Given the description of an element on the screen output the (x, y) to click on. 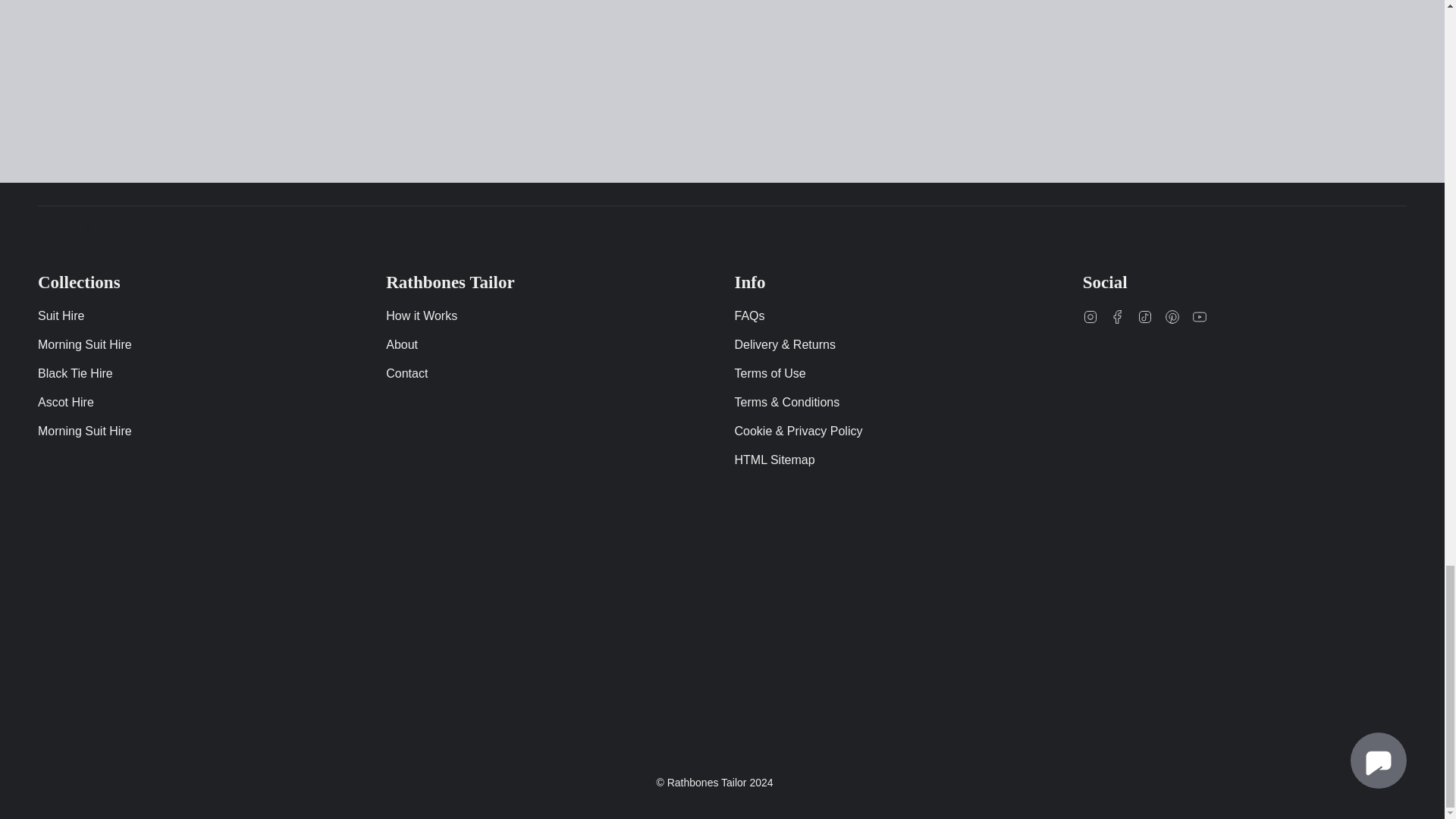
Rathbones Tailor on TikTok (1145, 316)
Rathbones Tailor on Facebook (1117, 316)
Rathbones Tailor on Instagram (1090, 316)
Rathbones Tailor on YouTube (1199, 316)
Rathbones Tailor on Pinterest (1171, 316)
